Given the description of an element on the screen output the (x, y) to click on. 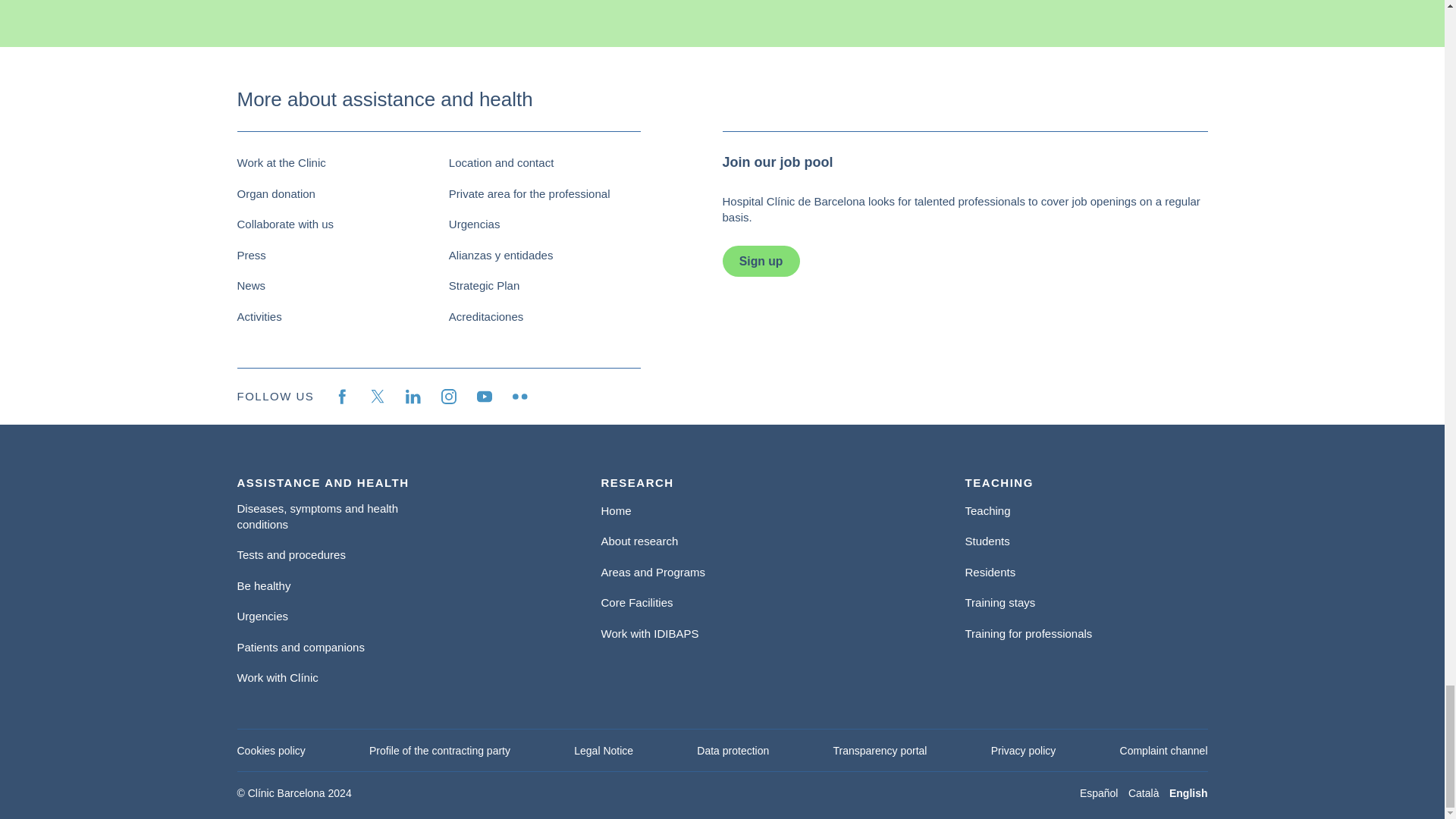
Follow us on twitter (377, 396)
Follow us on instagram (449, 396)
Follow us on flickr (519, 396)
Follow us on linkedin (413, 396)
Follow us on youtube (484, 396)
Follow us on facebook (341, 396)
